Given the description of an element on the screen output the (x, y) to click on. 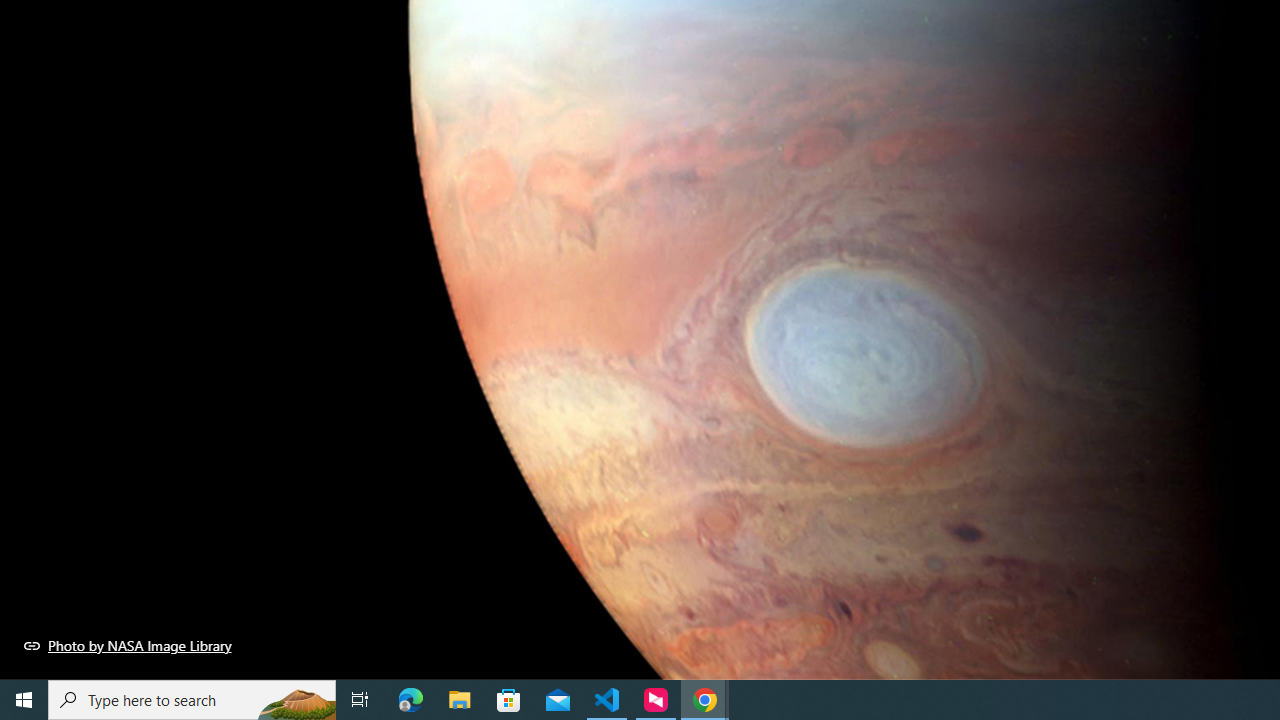
Photo by NASA Image Library (127, 645)
